Given the description of an element on the screen output the (x, y) to click on. 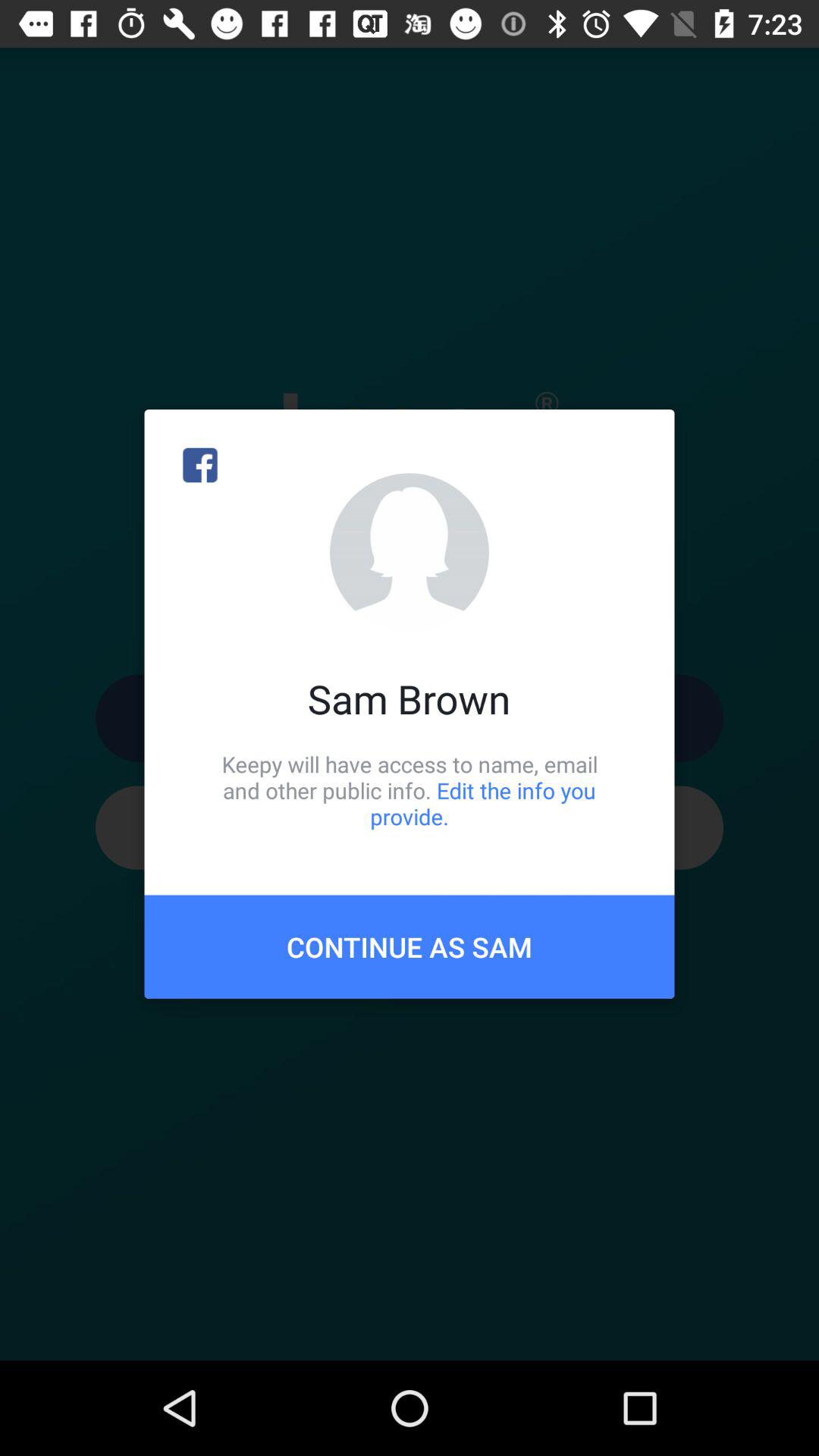
jump until the keepy will have (409, 790)
